Given the description of an element on the screen output the (x, y) to click on. 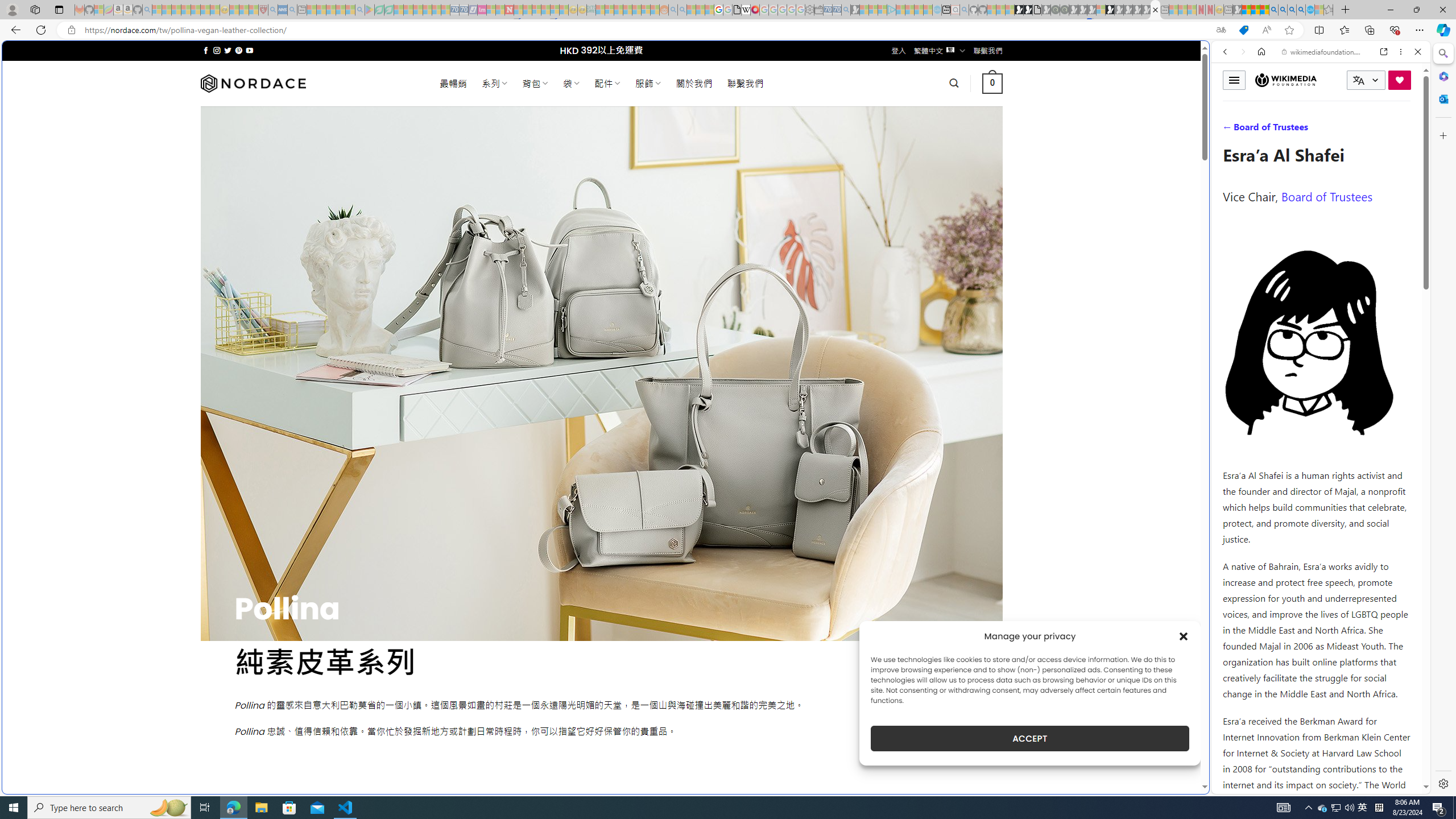
This site has coupons! Shopping in Microsoft Edge, 4 (1243, 29)
